Given the description of an element on the screen output the (x, y) to click on. 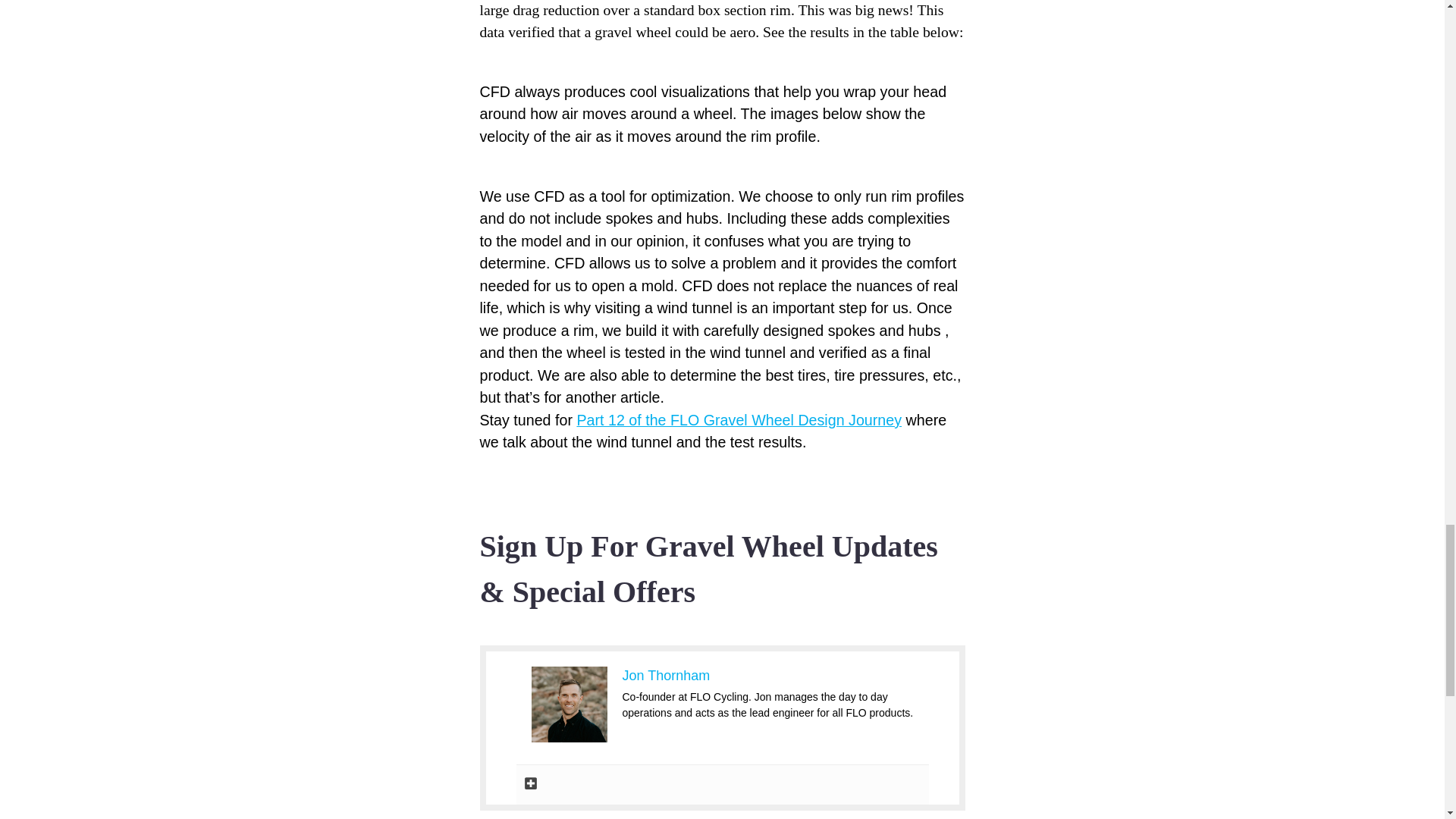
Jon Thornham (665, 675)
Part 12 of the FLO Gravel Wheel Design Journey (738, 419)
